Given the description of an element on the screen output the (x, y) to click on. 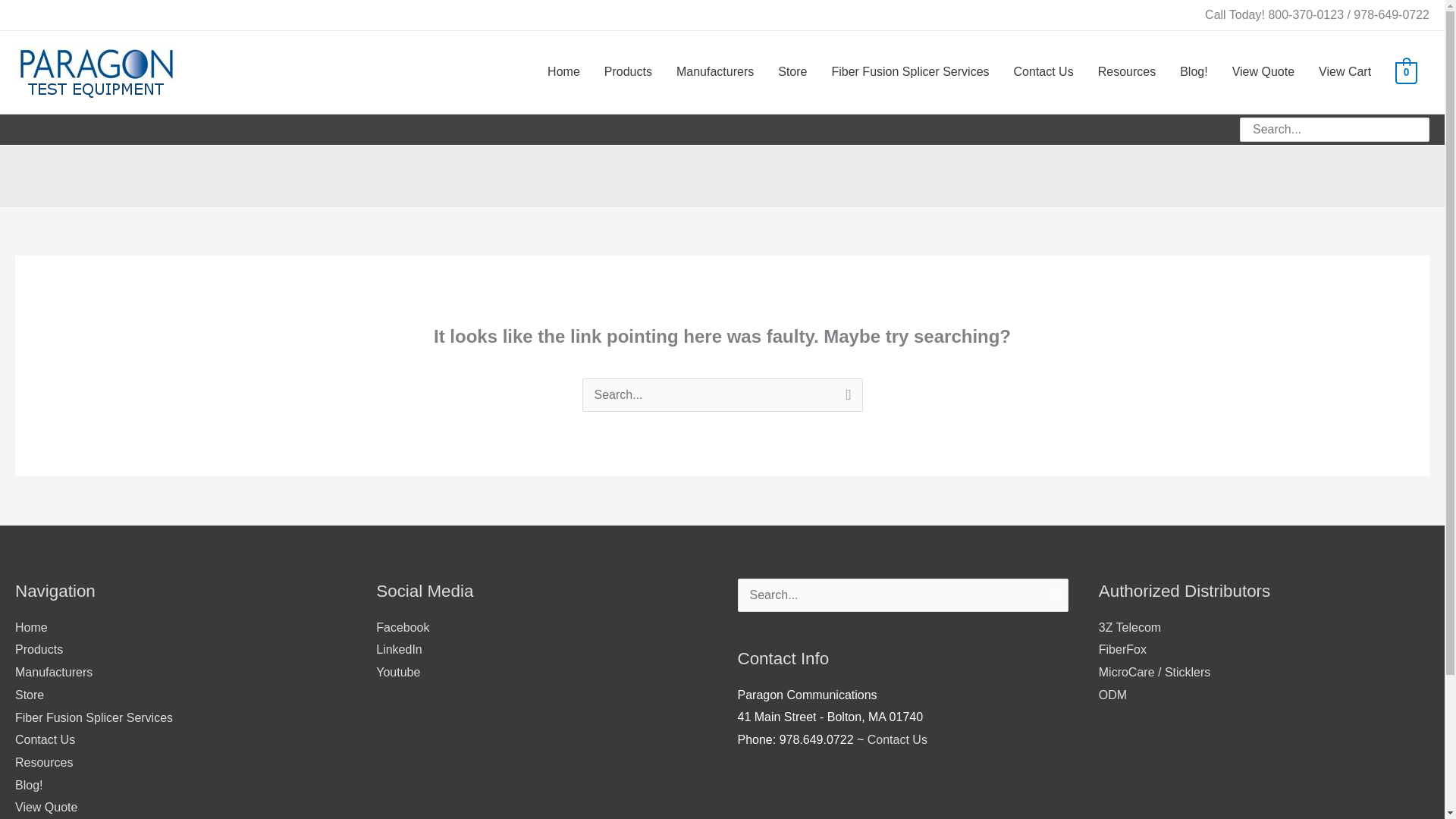
3Z Telecom (1129, 626)
FiberFox (1123, 649)
View Cart (1344, 72)
0 (1405, 72)
Fiber Fusion Splicer Services (93, 717)
Blog! (28, 784)
Fiber Fusion Splicer Services (909, 72)
Contact Us (1043, 72)
Resources (43, 762)
Products (627, 72)
